Given the description of an element on the screen output the (x, y) to click on. 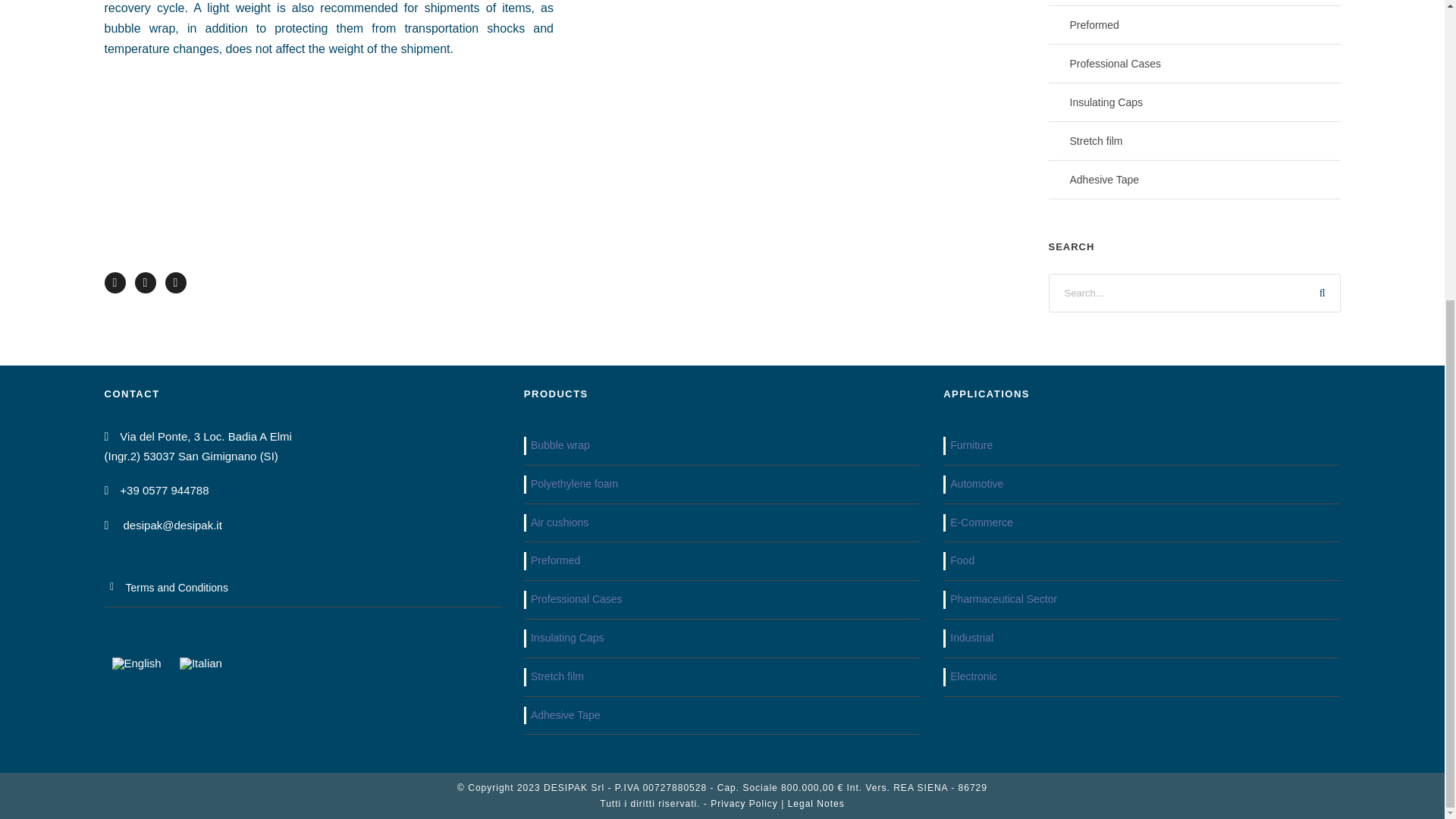
pluriball-standard (801, 115)
